Given the description of an element on the screen output the (x, y) to click on. 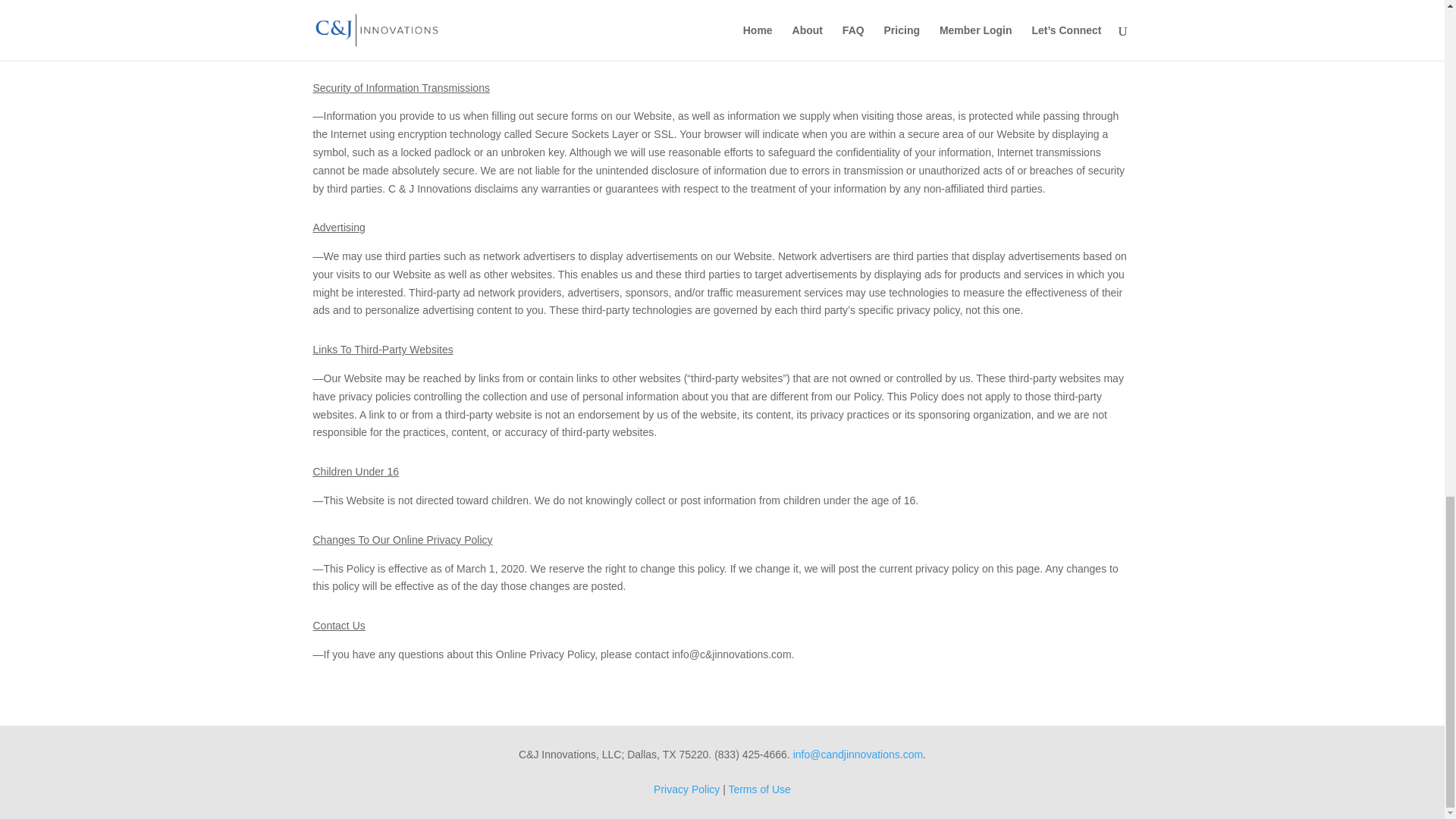
Privacy Policy (686, 788)
Terms of Use (759, 788)
